Given the description of an element on the screen output the (x, y) to click on. 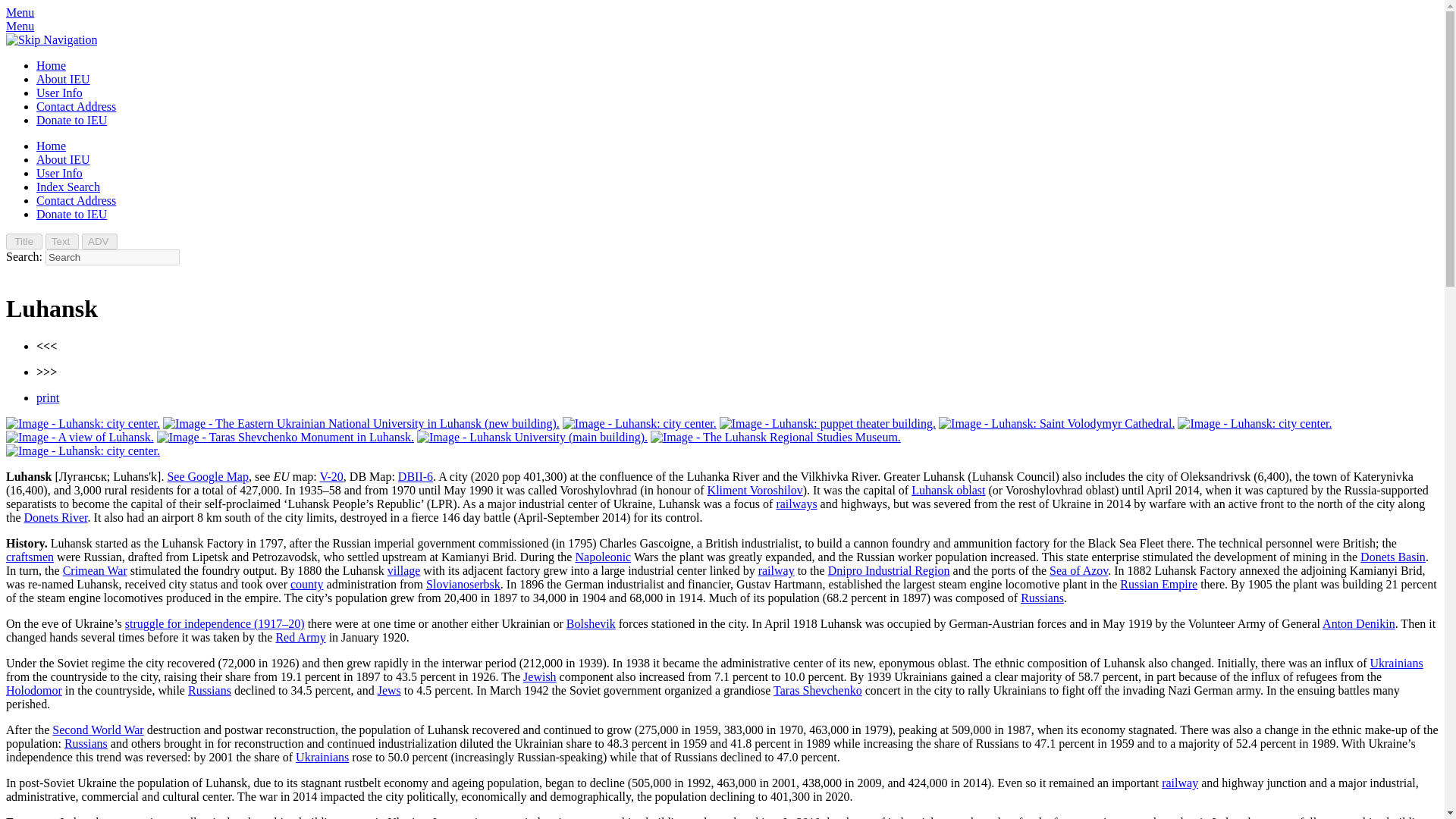
 View user's instructions, tips and editorial information  (59, 92)
 Search Titles in Encyclopedia  (23, 241)
Search (112, 257)
 Contact IEU staff  (76, 106)
Menu (19, 25)
Index Search (68, 186)
ADV  (99, 241)
ADV  (99, 241)
Previous Entry (46, 345)
Luhansk: city center. (639, 423)
About IEU (63, 159)
 Go to Home Page   (50, 65)
Luhansk: city center. (82, 423)
 Title  (23, 241)
User Info (59, 173)
